Given the description of an element on the screen output the (x, y) to click on. 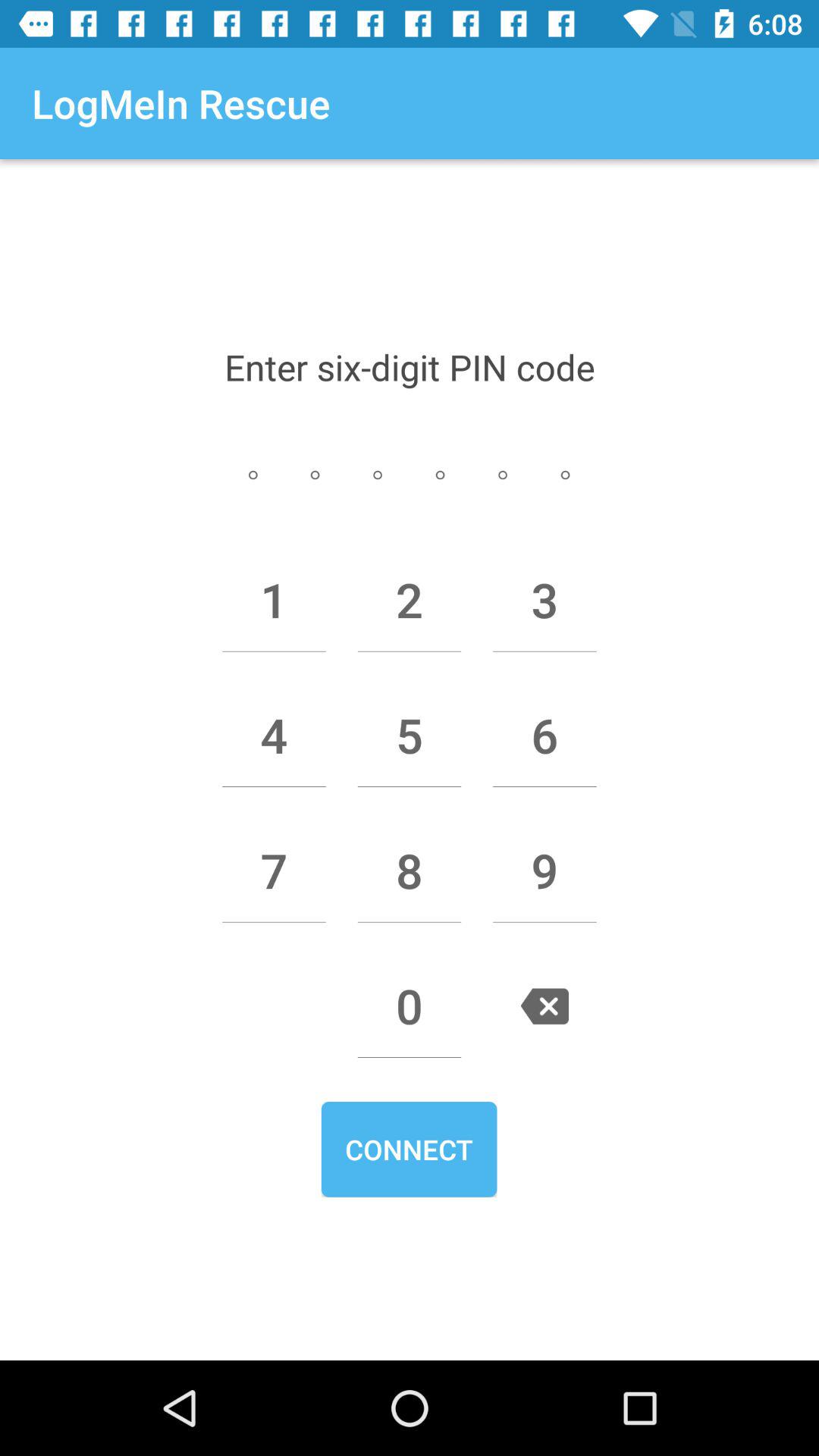
launch item next to 4 item (409, 735)
